Given the description of an element on the screen output the (x, y) to click on. 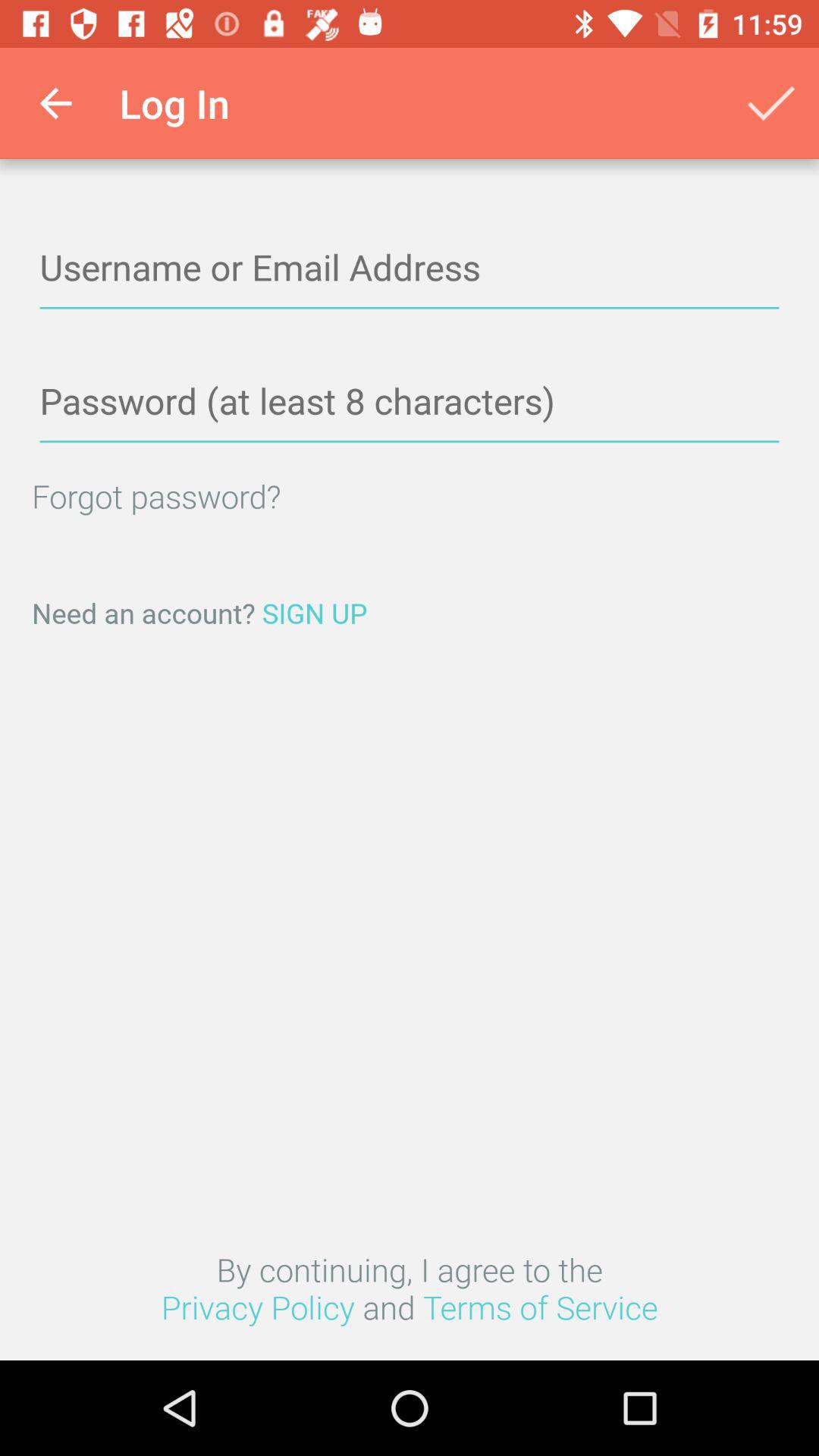
enter password (409, 402)
